Given the description of an element on the screen output the (x, y) to click on. 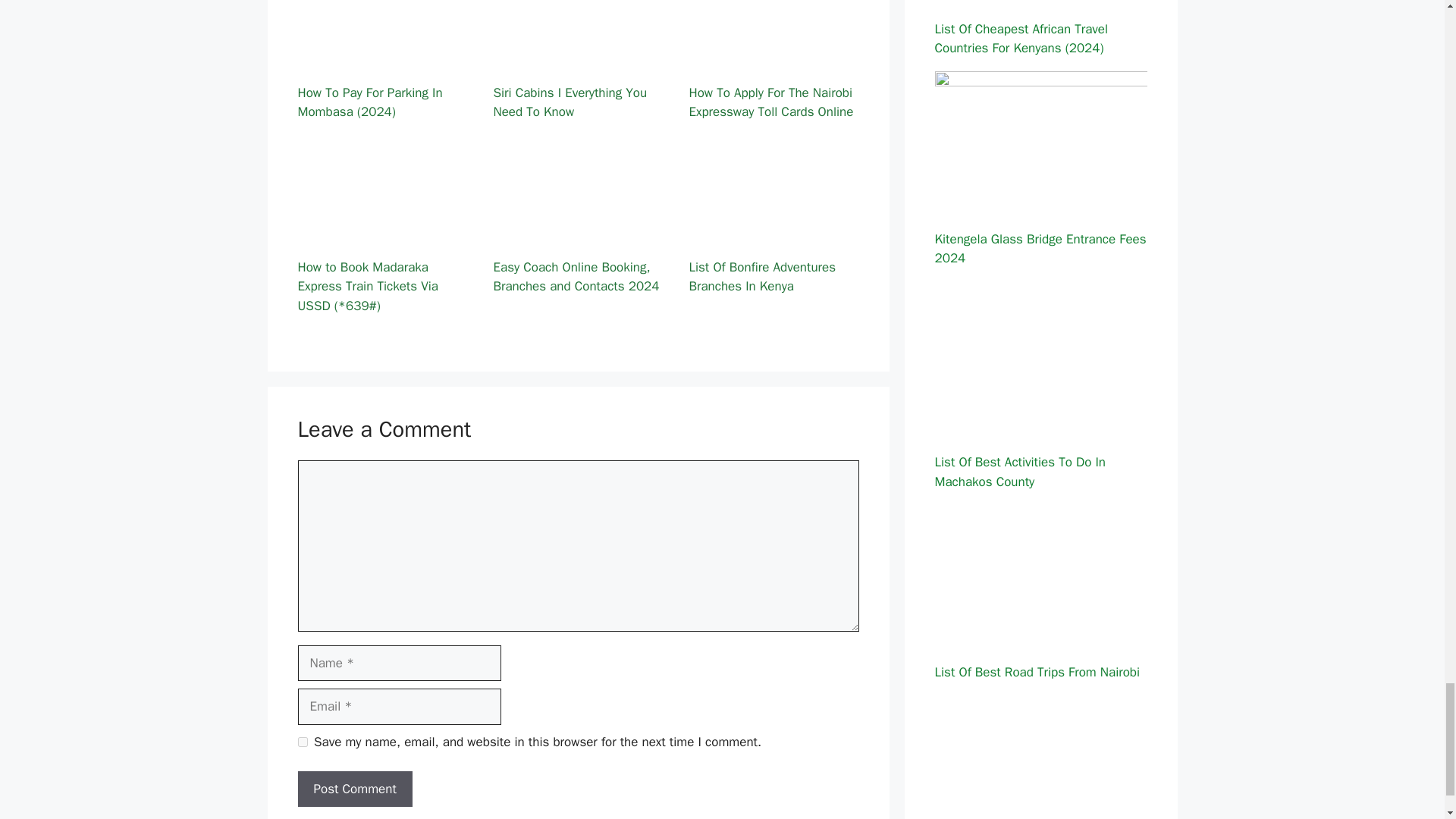
Post Comment (354, 789)
Easy Coach Online Booking, Branches and Contacts 2024 (577, 234)
How To Apply For The Nairobi Expressway Toll Cards Online (773, 59)
Siri Cabins I Everything You Need To Know (577, 59)
yes (302, 741)
List Of Bonfire Adventures Branches In Kenya (773, 234)
